Given the description of an element on the screen output the (x, y) to click on. 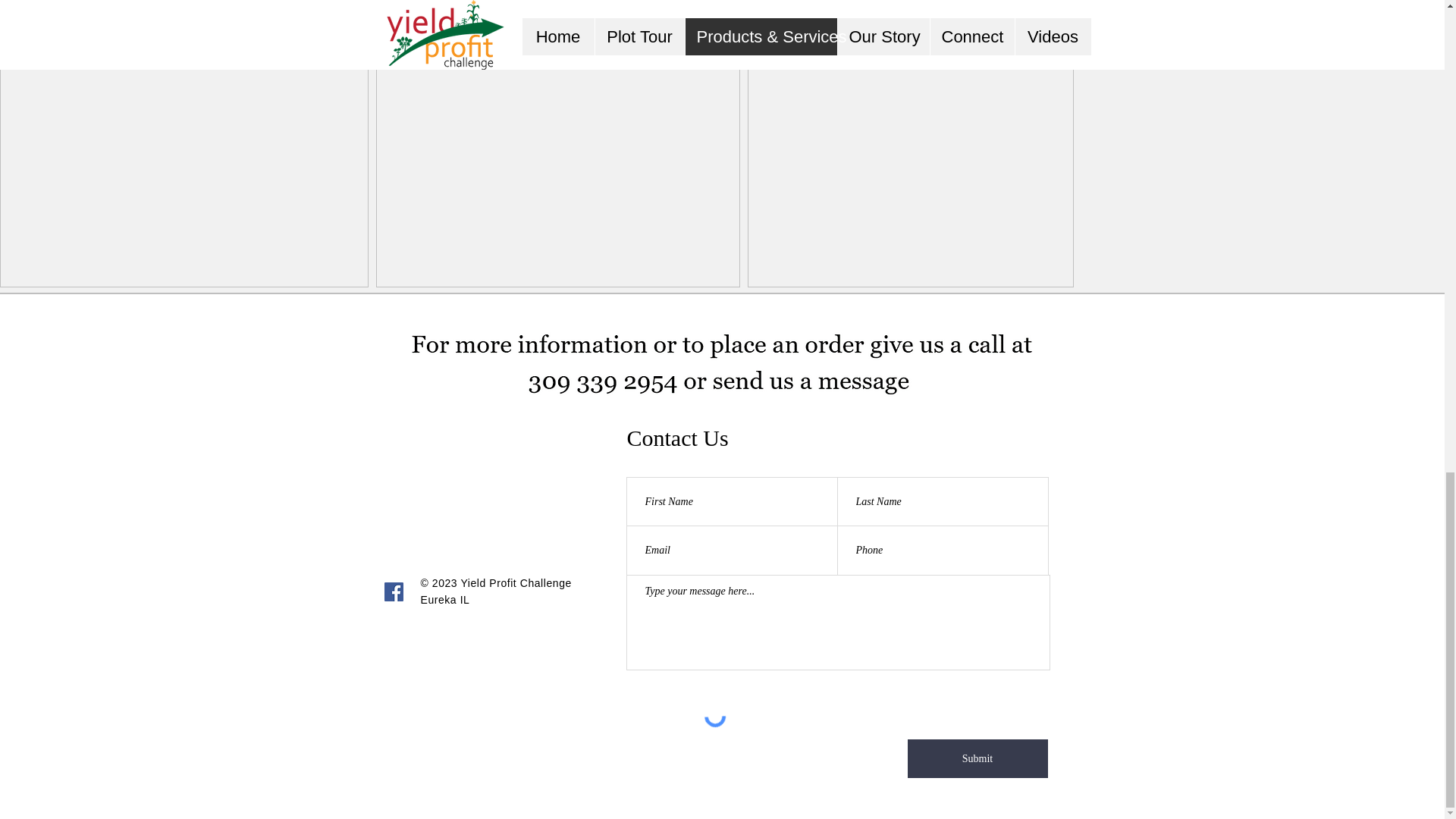
Submit (976, 758)
